Given the description of an element on the screen output the (x, y) to click on. 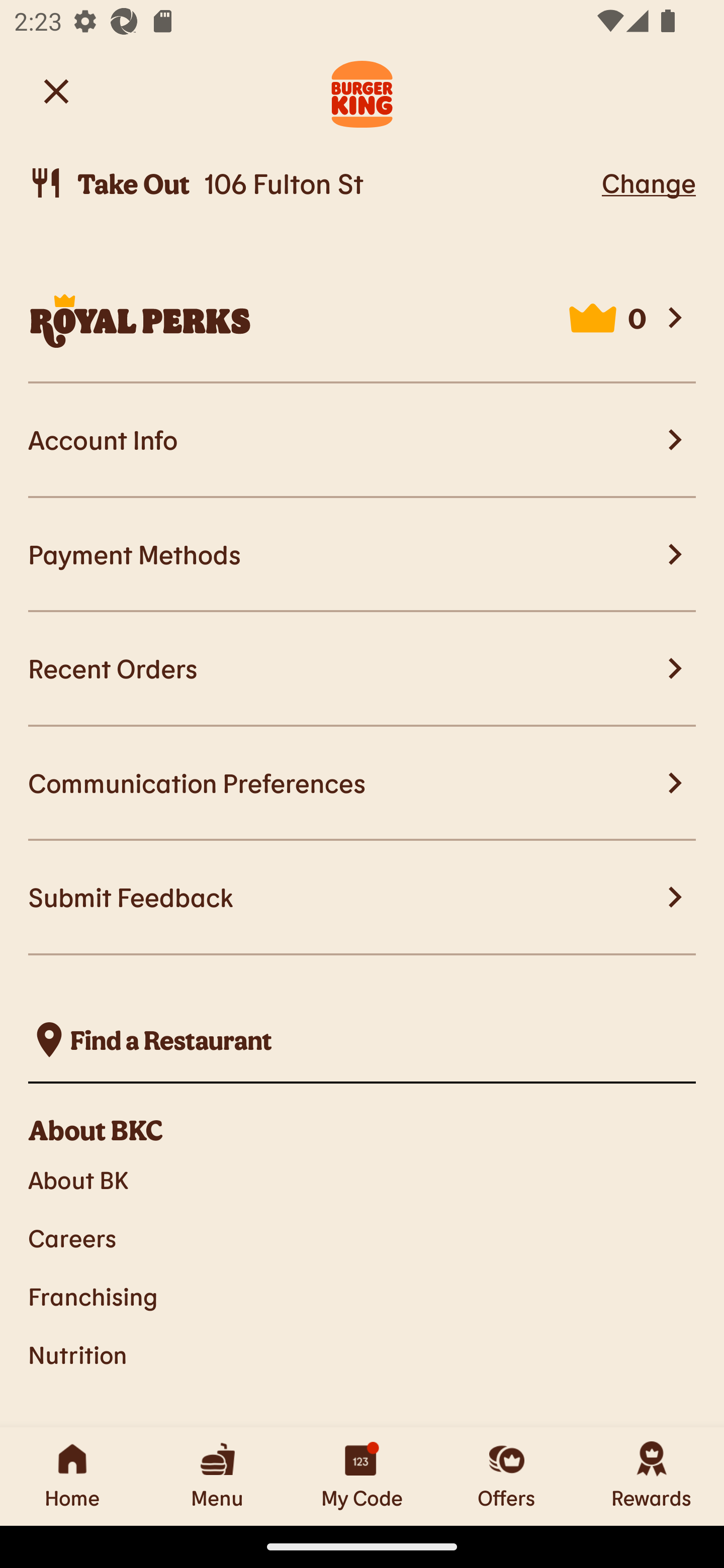
Burger King Logo. Navigate to Home (362, 91)
Back  (56, 90)
Take Out, 106 Fulton St  Take Out 106 Fulton St (311, 183)
Change (648, 182)
Account Info Account Info  (361, 441)
Payment Methods Payment Methods  (361, 554)
Recent Orders Recent Orders  (361, 668)
Submit Feedback Submit Feedback  (361, 897)
, Find a Restaurant  Find a Restaurant (361, 1040)
About BK (361, 1178)
Careers (361, 1237)
Franchising (361, 1295)
Nutrition (361, 1354)
Home (72, 1475)
Menu (216, 1475)
My Code (361, 1475)
Offers (506, 1475)
Rewards (651, 1475)
